Given the description of an element on the screen output the (x, y) to click on. 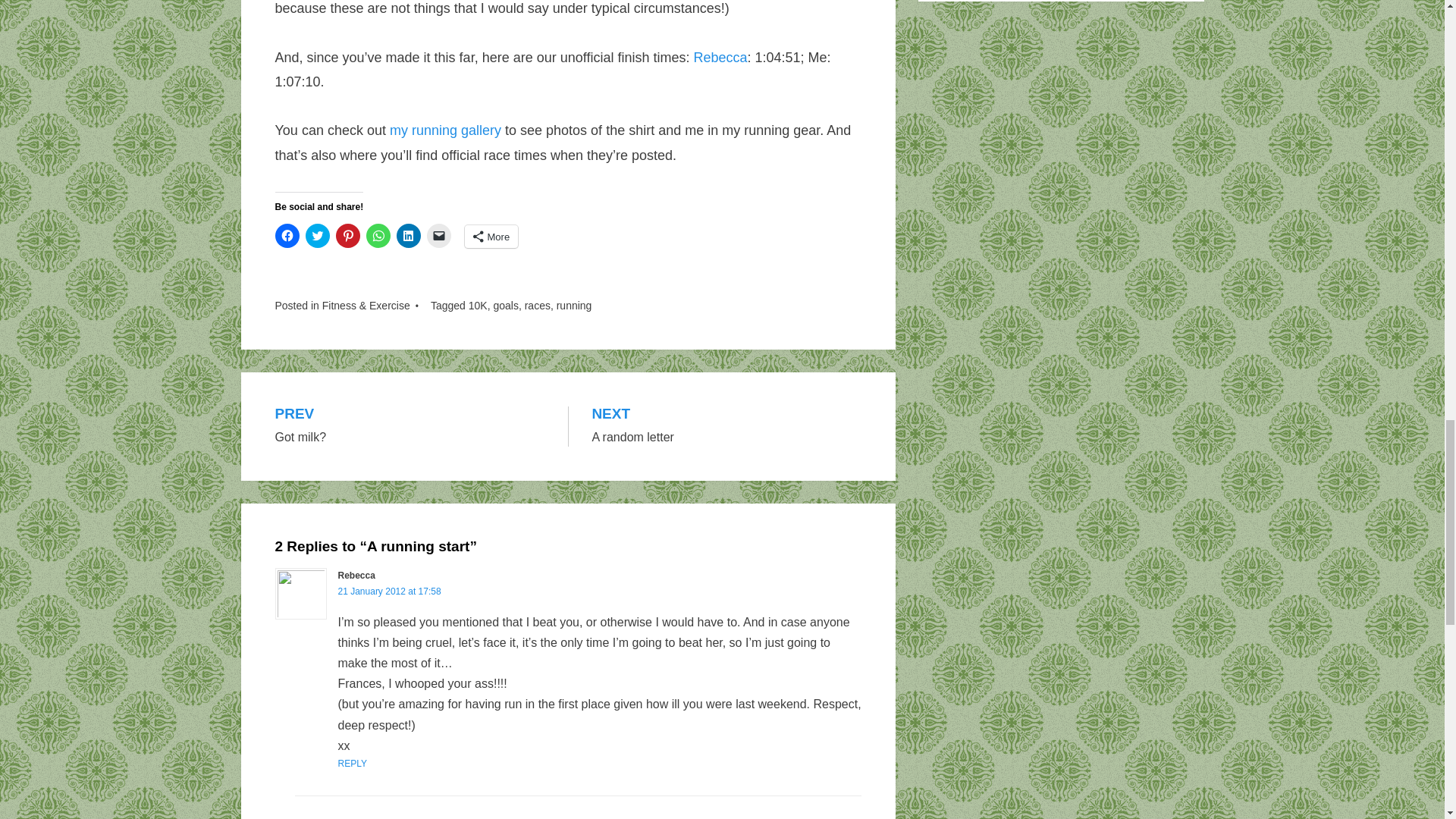
Click to share on Pinterest (346, 235)
Click to share on WhatsApp (377, 235)
my running gallery (445, 130)
Rebecca (719, 57)
Click to share on LinkedIn (408, 235)
Click to share on Facebook (286, 235)
Click to share on Twitter (316, 235)
Click to email a link to a friend (437, 235)
